Given the description of an element on the screen output the (x, y) to click on. 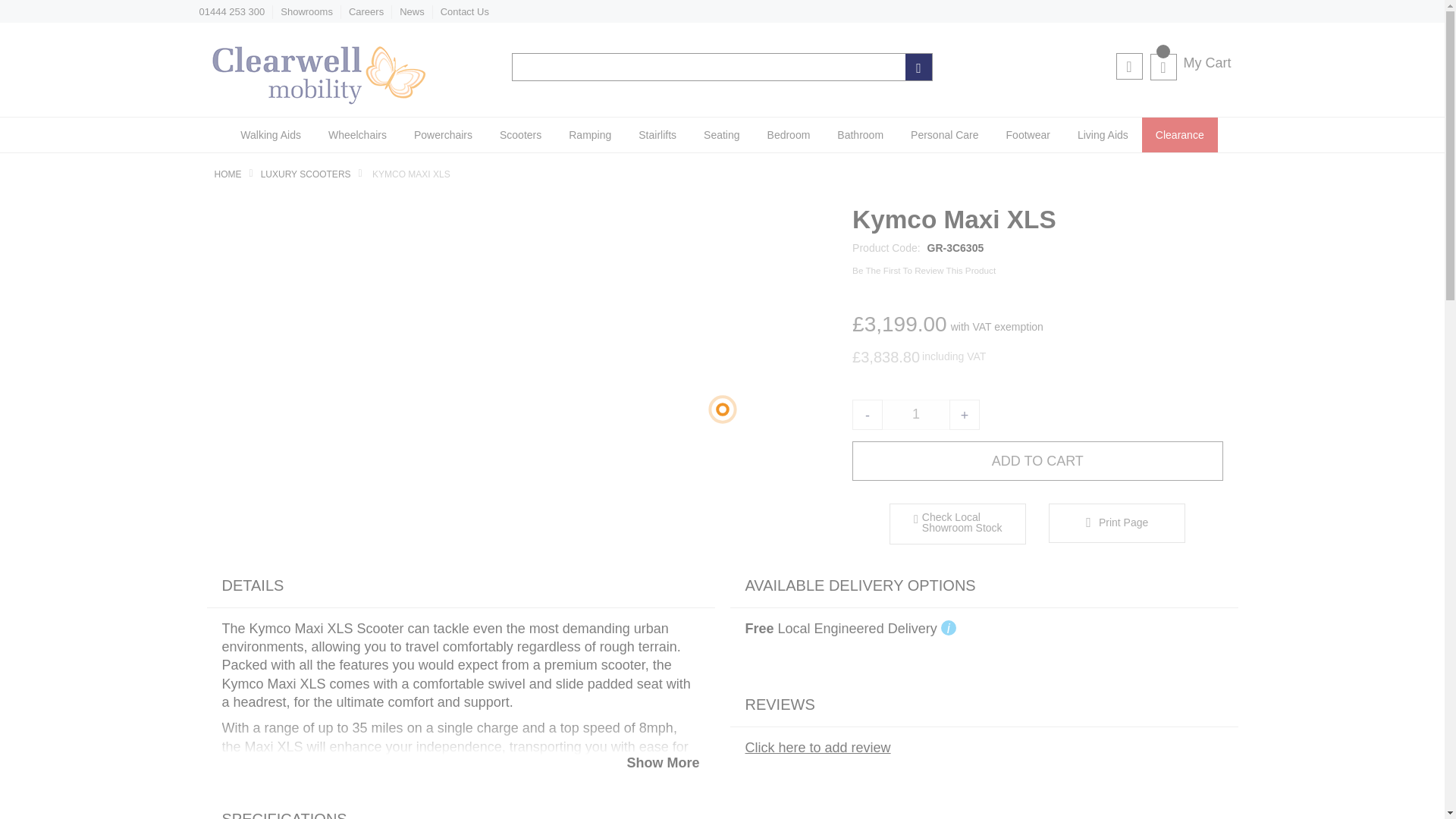
Powerchairs (443, 134)
Qty (916, 414)
Search (918, 67)
News (411, 11)
Careers (366, 11)
SEARCH (918, 67)
Showrooms (307, 11)
Walking Aids (270, 134)
01444 253 300 (231, 11)
My Cart (1190, 63)
Contact Us (465, 11)
Wheelchairs (357, 134)
Quick Shop (957, 523)
Clearwell Mobility logo (316, 99)
1 (916, 414)
